Given the description of an element on the screen output the (x, y) to click on. 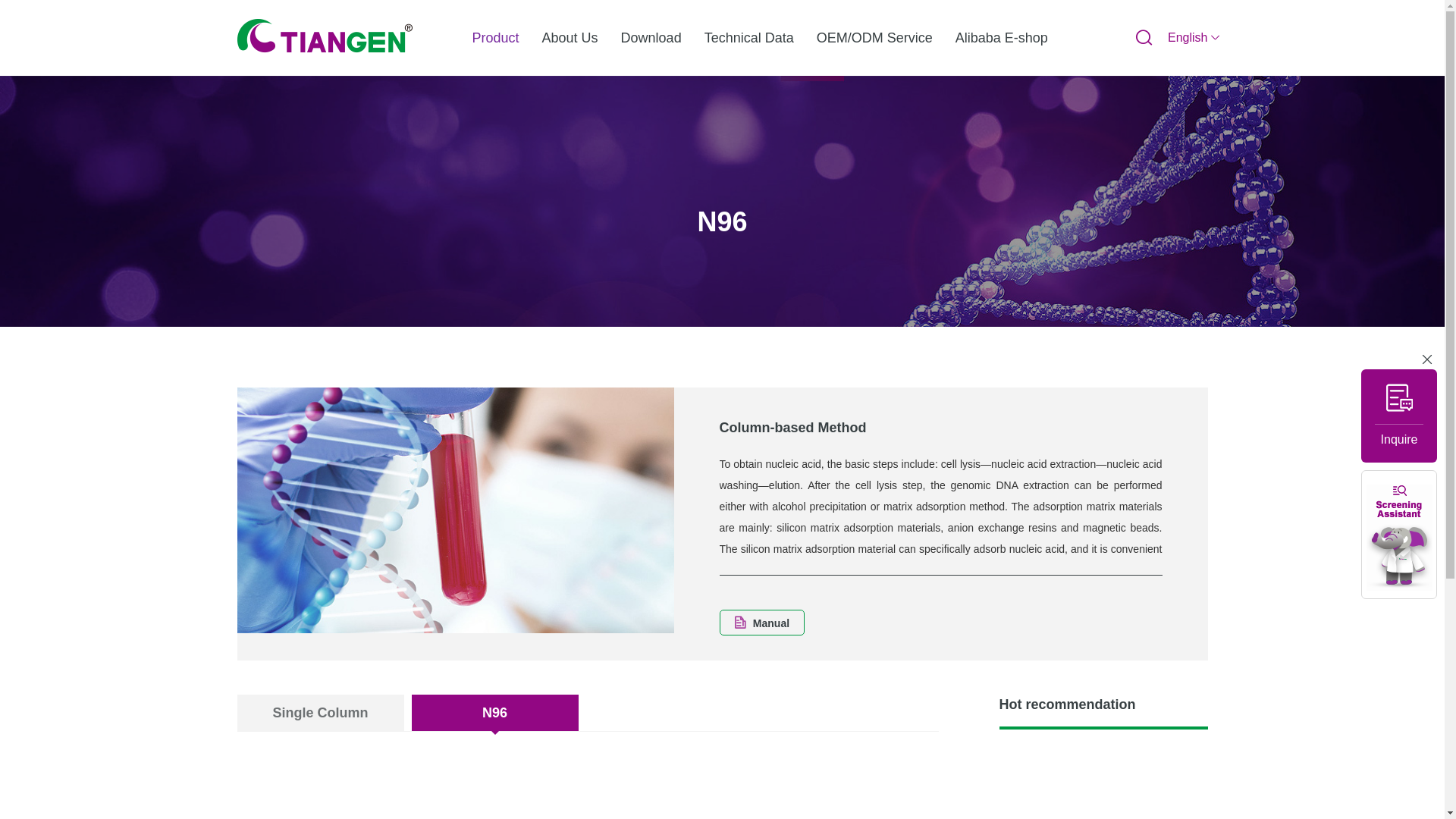
Product (496, 38)
